Given the description of an element on the screen output the (x, y) to click on. 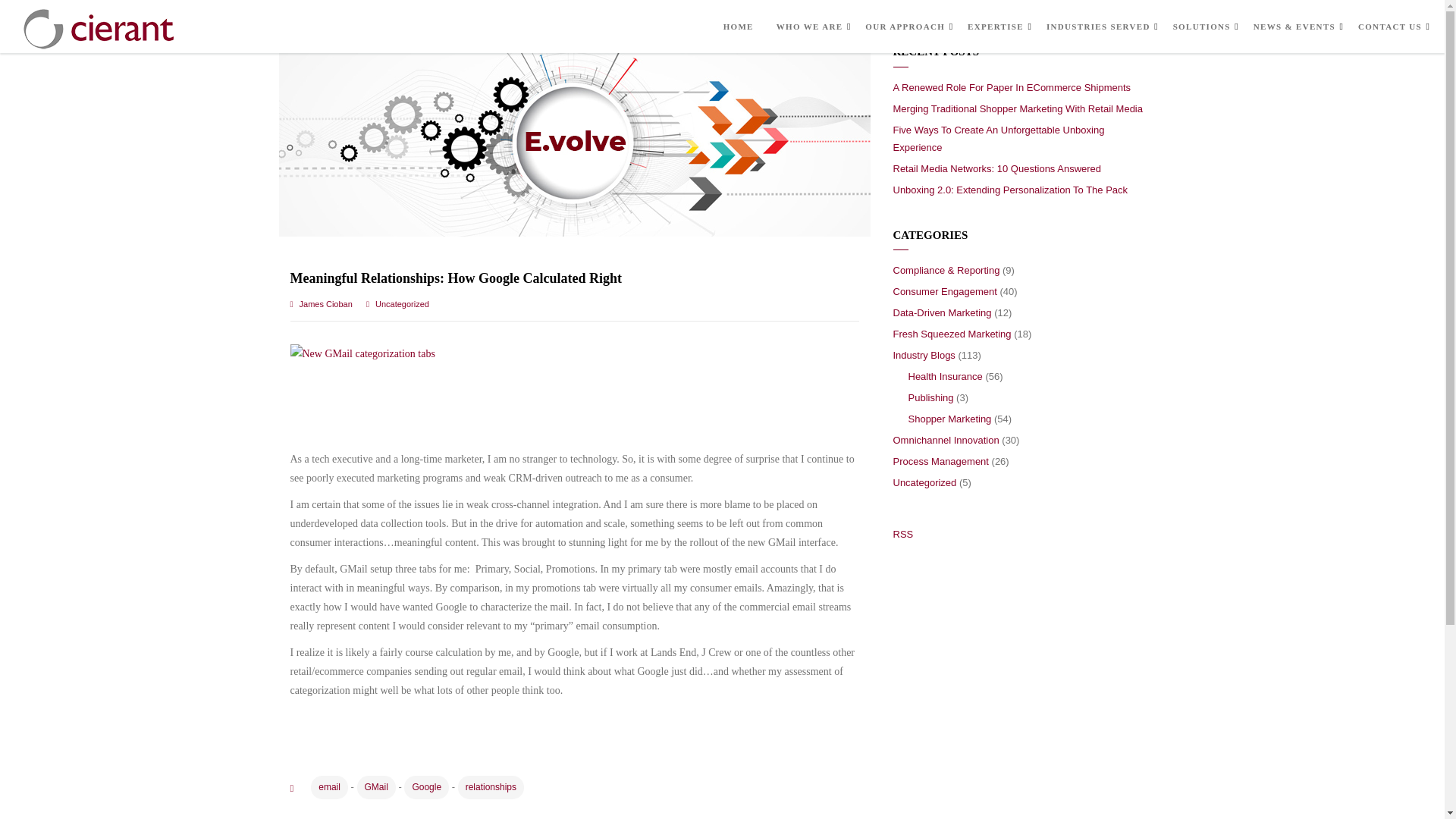
OUR APPROACH (904, 26)
email (329, 787)
Meaningful Relationships: How Google Calculated Right (455, 278)
INDUSTRIES SERVED (1098, 26)
EXPERTISE (995, 26)
CONTACT US (1390, 26)
Posts by James Cioban (325, 303)
WHO WE ARE (809, 26)
SOLUTIONS (1201, 26)
Uncategorized (402, 303)
